Given the description of an element on the screen output the (x, y) to click on. 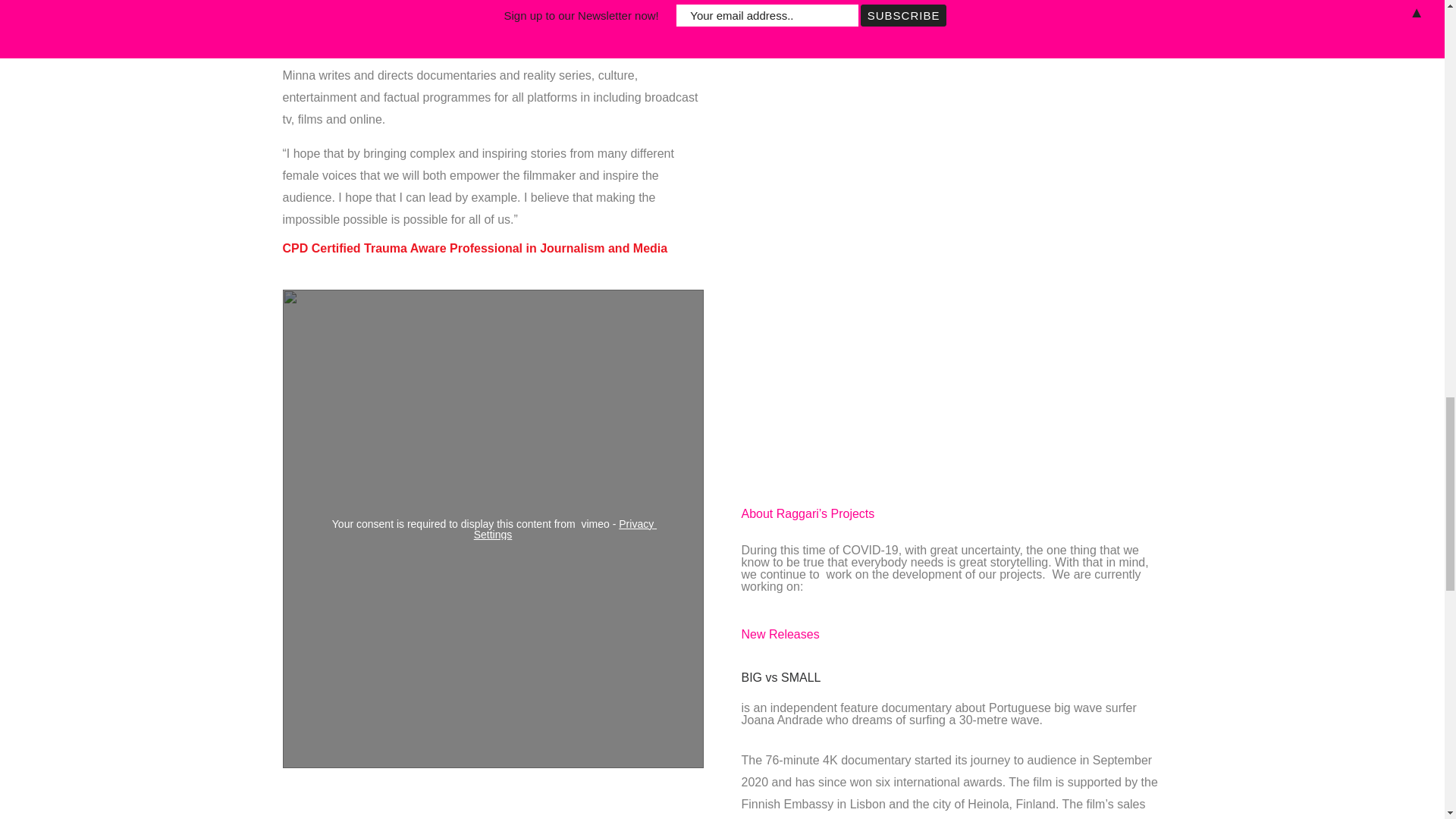
Privacy Settings (565, 527)
